Given the description of an element on the screen output the (x, y) to click on. 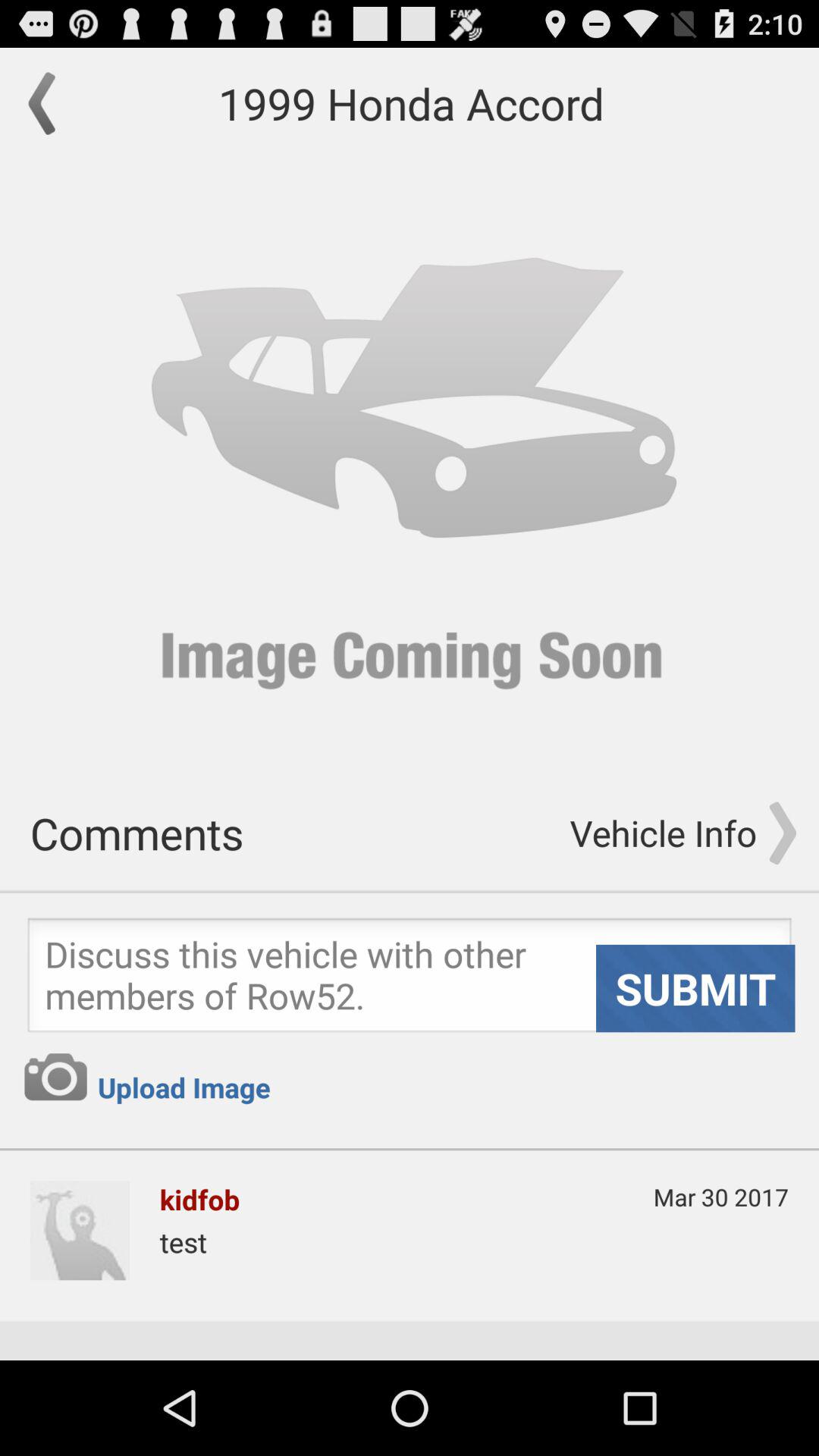
open the item to the left of upload image (55, 1076)
